Given the description of an element on the screen output the (x, y) to click on. 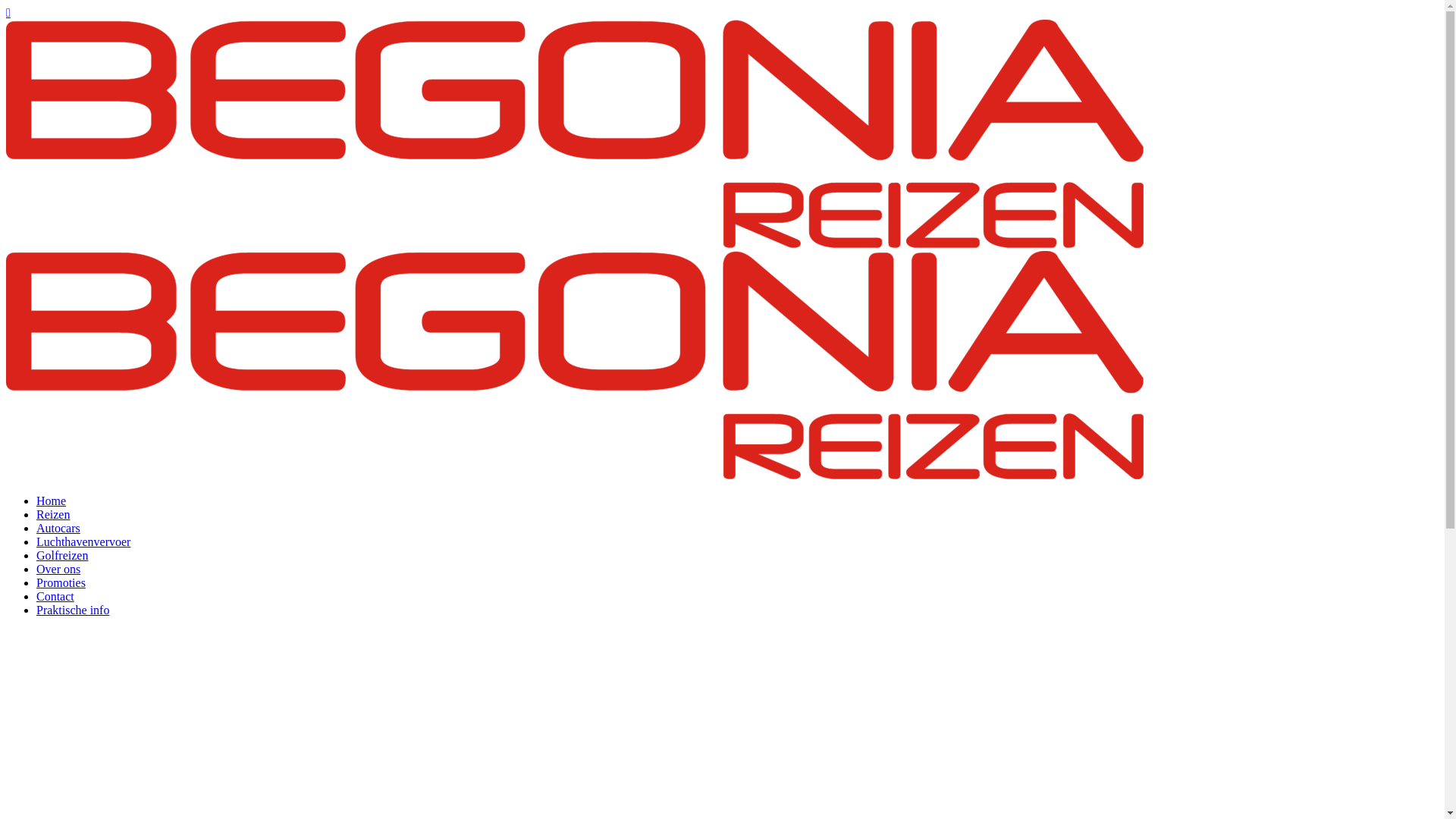
Praktische info Element type: text (72, 609)
Reizen Element type: text (52, 514)
Over ons Element type: text (58, 568)
Luchthavenvervoer Element type: text (83, 541)
Autocars Element type: text (58, 527)
Home Element type: text (50, 500)
Golfreizen Element type: text (61, 555)
Promoties Element type: text (60, 582)
Contact Element type: text (55, 595)
